Given the description of an element on the screen output the (x, y) to click on. 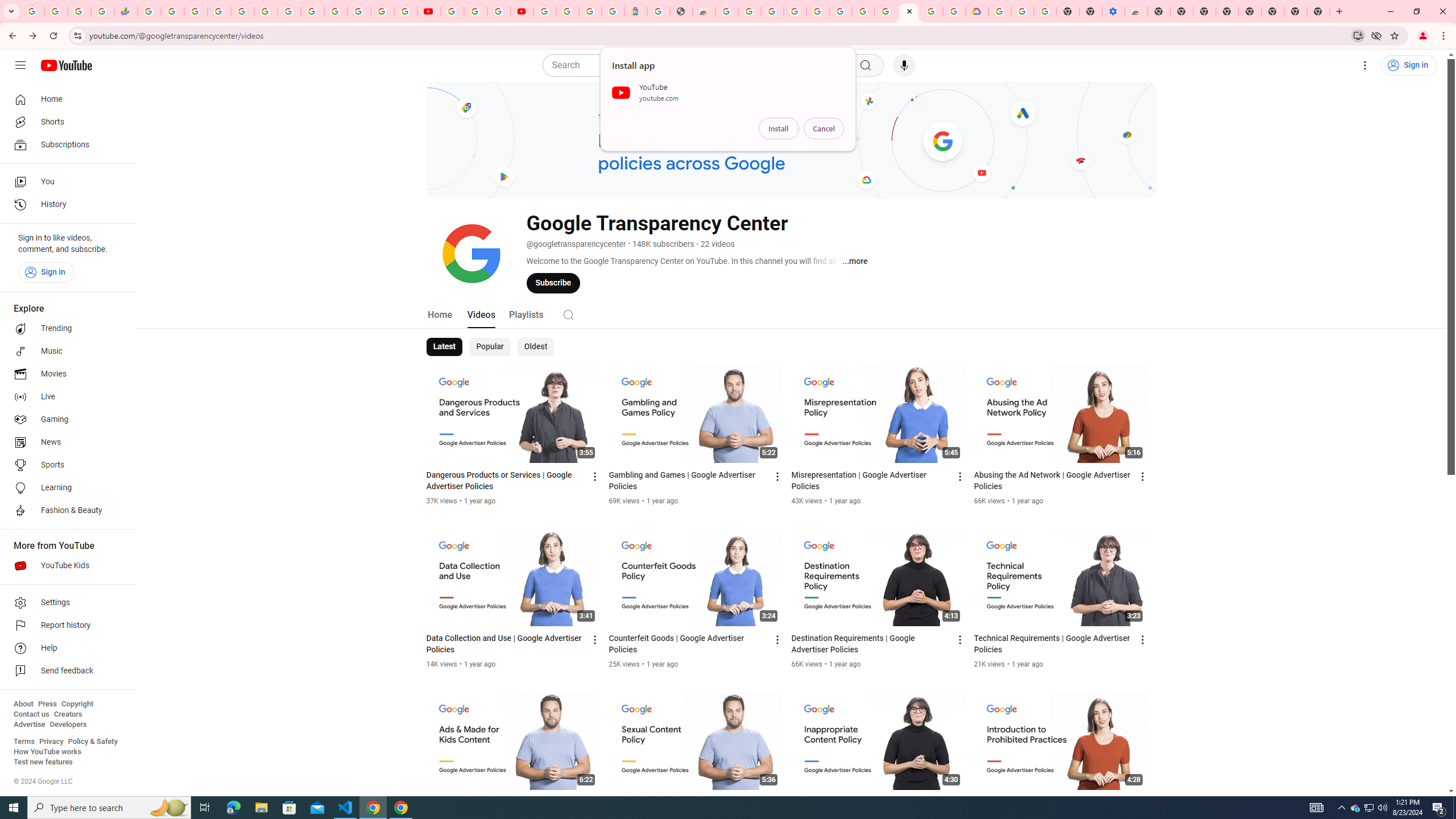
Search with your voice (903, 65)
Privacy (51, 741)
Guide (20, 65)
Home (64, 99)
YouTube Home (66, 65)
YouTube (312, 11)
Atour Hotel - Google hotels (635, 11)
Home (440, 314)
Create your Google Account (498, 11)
Creators (67, 714)
